Given the description of an element on the screen output the (x, y) to click on. 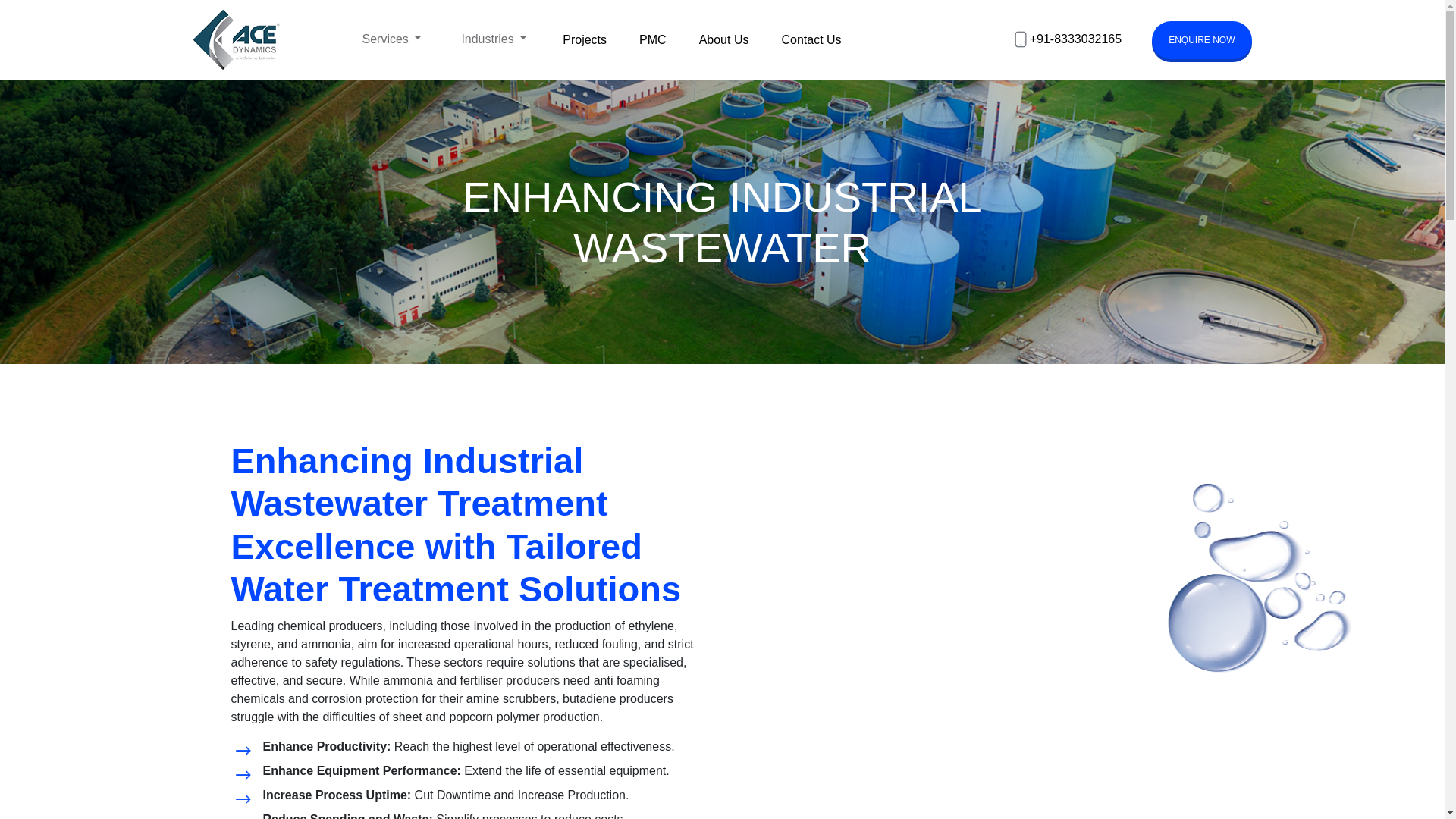
ENQUIRE NOW (1200, 39)
Projects (584, 39)
PMC (652, 39)
Contact Us (810, 39)
Industries (493, 38)
Services (391, 38)
About Us (724, 39)
